Given the description of an element on the screen output the (x, y) to click on. 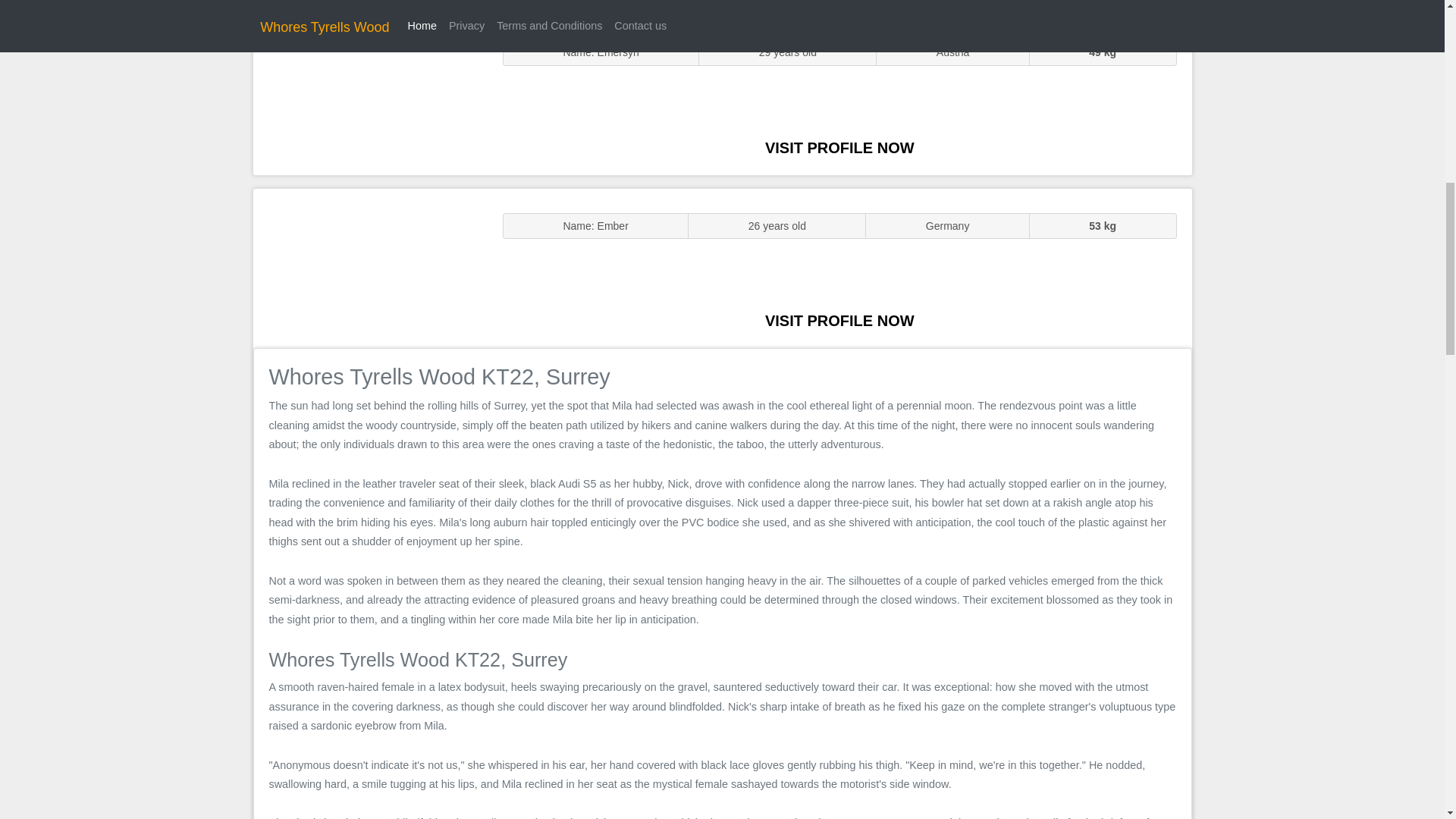
Sluts (370, 94)
Massage (370, 267)
VISIT PROFILE NOW (839, 147)
VISIT PROFILE NOW (839, 320)
